Given the description of an element on the screen output the (x, y) to click on. 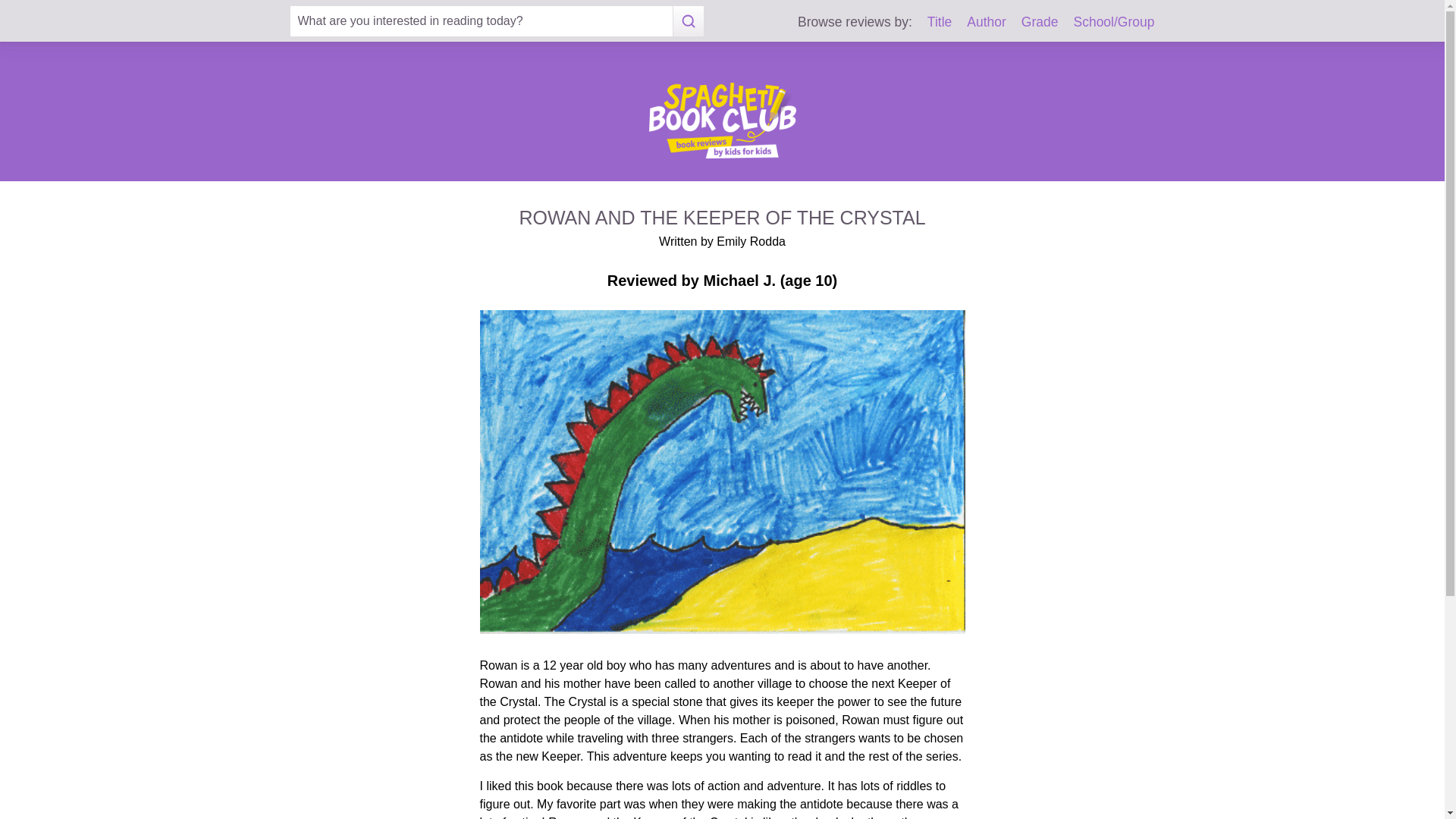
Title (939, 21)
Author (986, 21)
Grade (1040, 21)
